Given the description of an element on the screen output the (x, y) to click on. 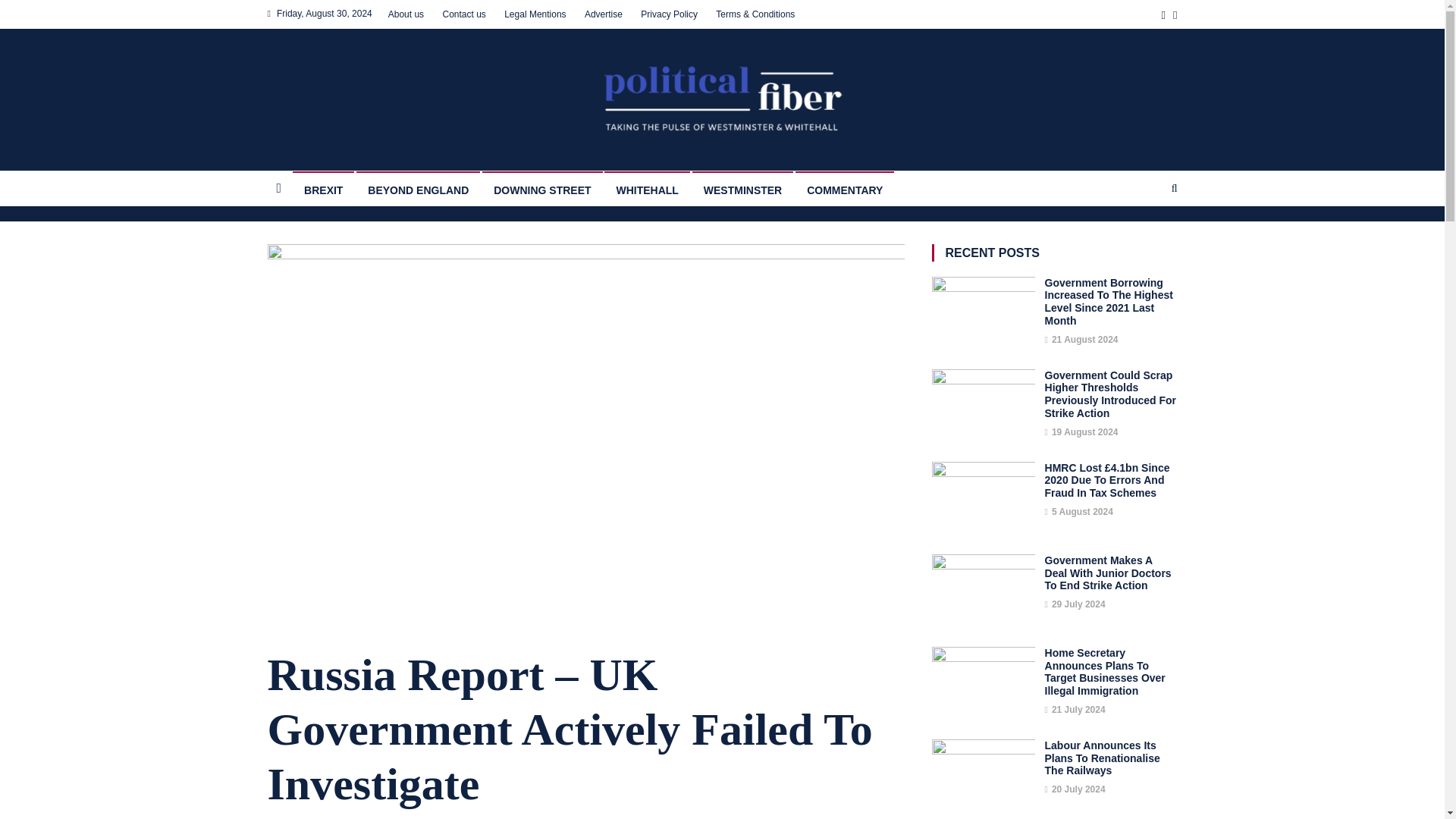
Privacy Policy (668, 14)
GO (1145, 241)
BREXIT (322, 187)
About us (405, 14)
Legal Mentions (534, 14)
WHITEHALL (646, 187)
BEYOND ENGLAND (418, 187)
COMMENTARY (843, 187)
Advertise (604, 14)
Contact us (463, 14)
